Given the description of an element on the screen output the (x, y) to click on. 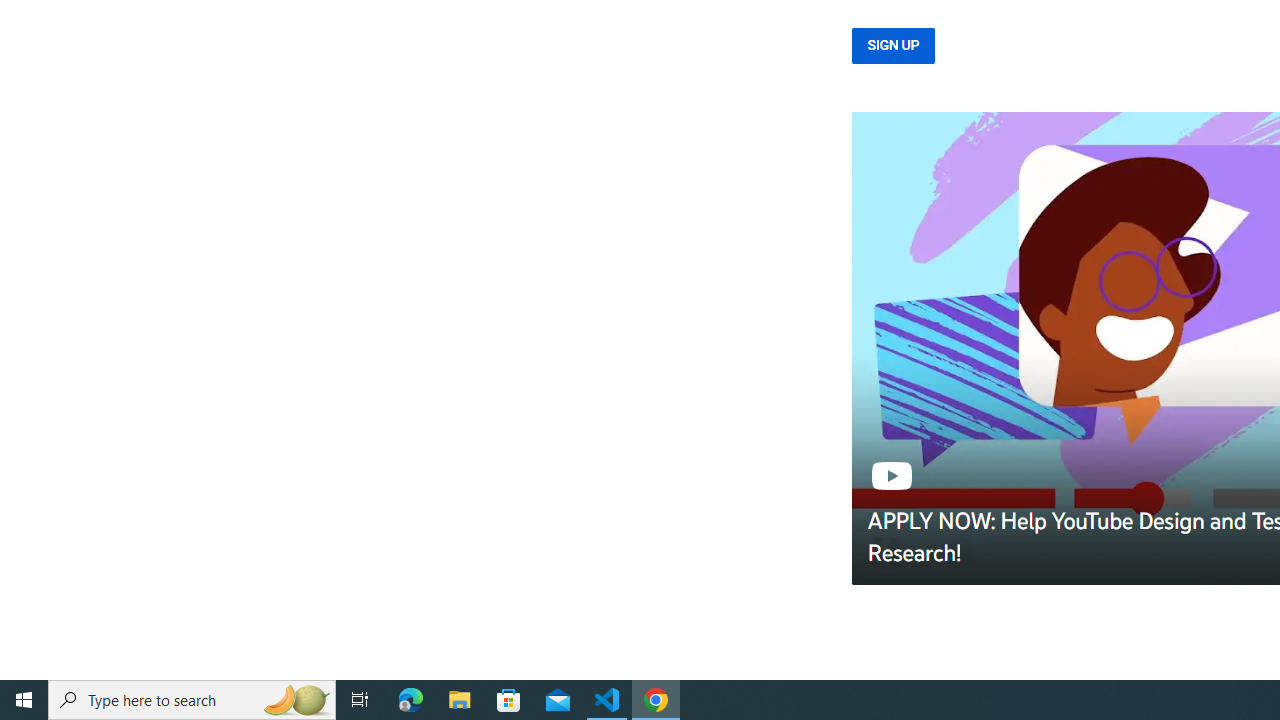
SIGN UP (893, 46)
